Given the description of an element on the screen output the (x, y) to click on. 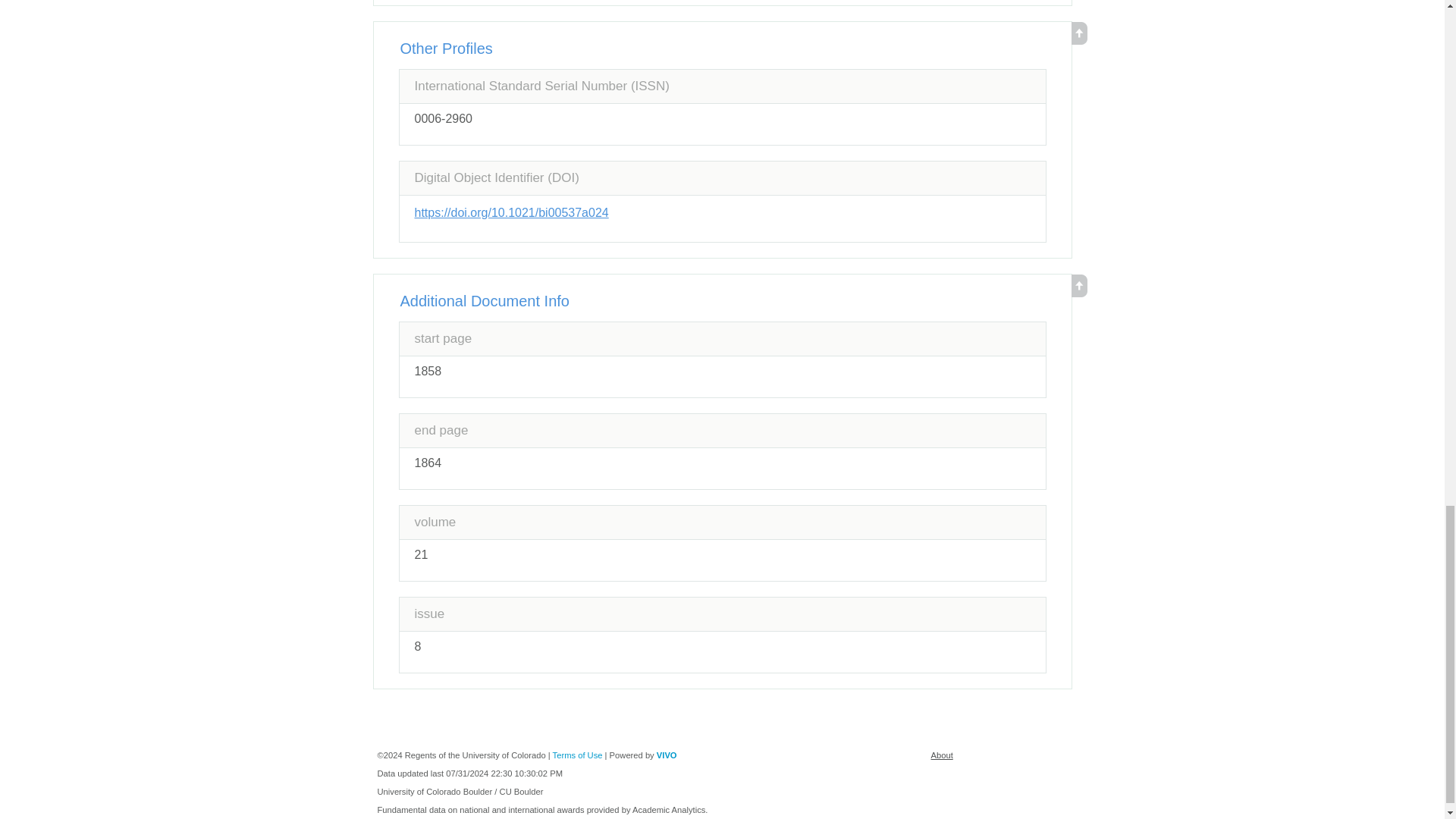
About (942, 755)
Terms of Use (577, 755)
VIVO (666, 755)
